Given the description of an element on the screen output the (x, y) to click on. 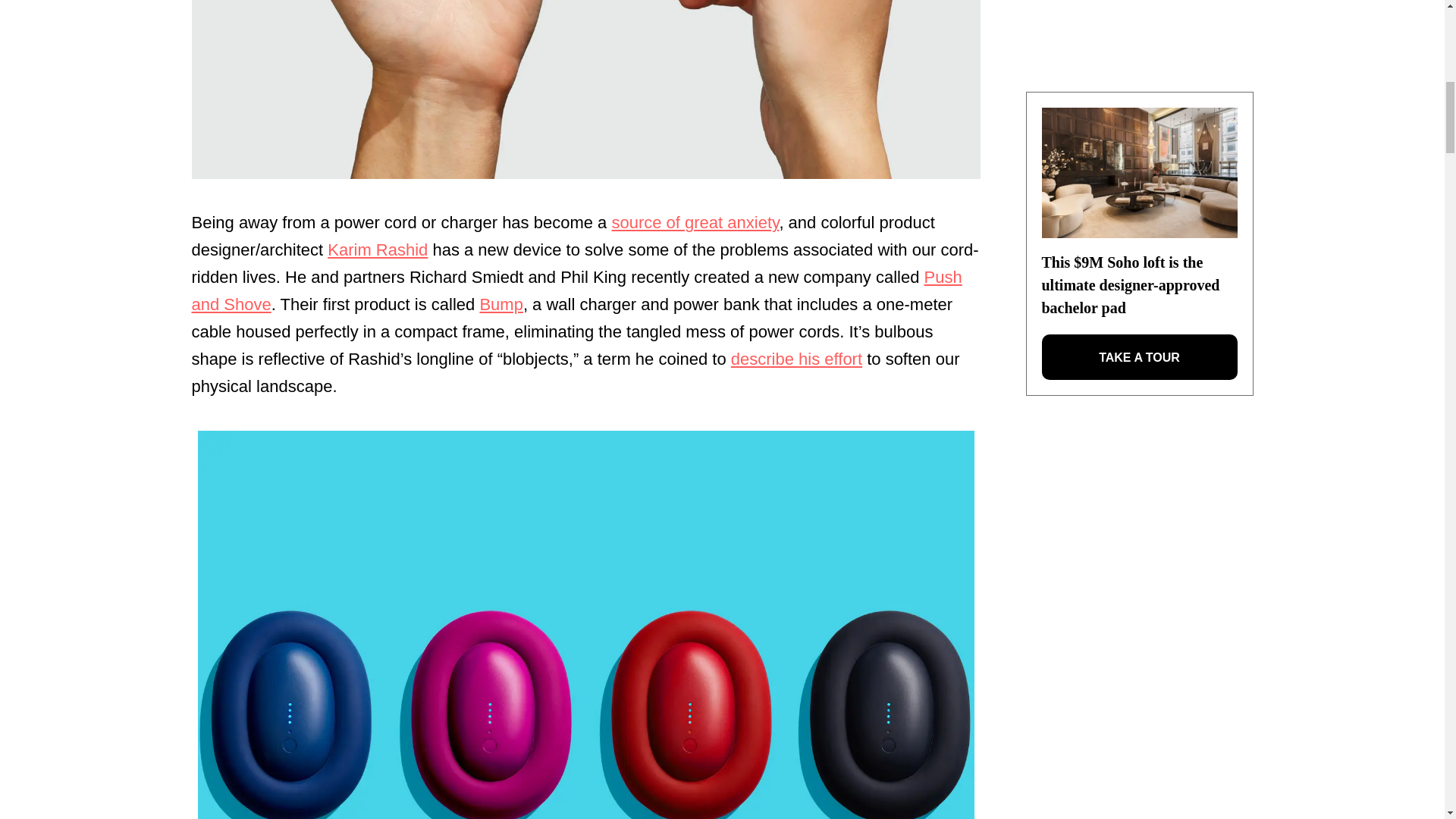
Push and Shove (575, 290)
source of great anxiety (694, 221)
describe his effort (795, 358)
Bump (500, 303)
Karim Rashid (377, 249)
